Given the description of an element on the screen output the (x, y) to click on. 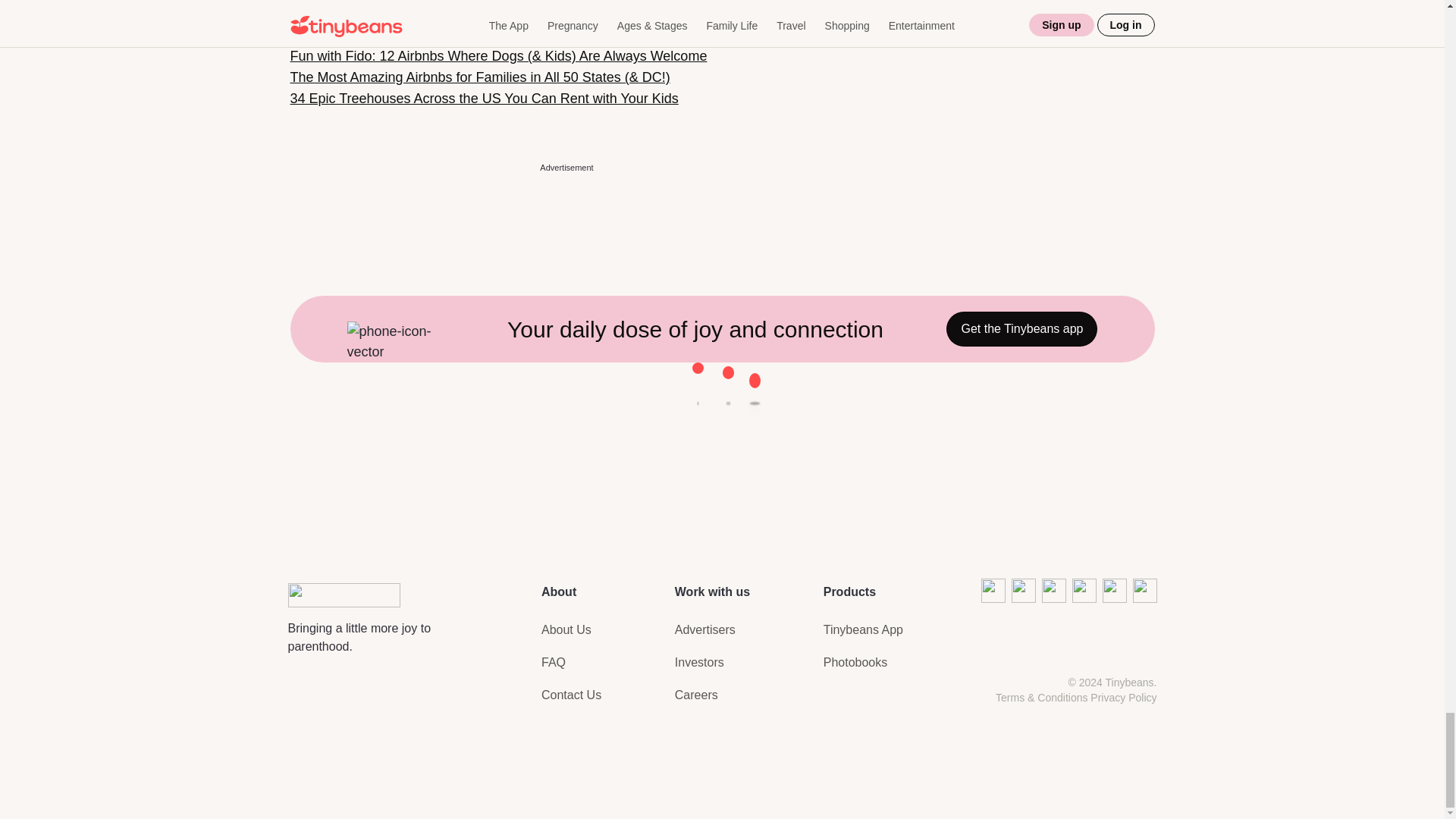
Get the Tinybeans app (1021, 329)
